Given the description of an element on the screen output the (x, y) to click on. 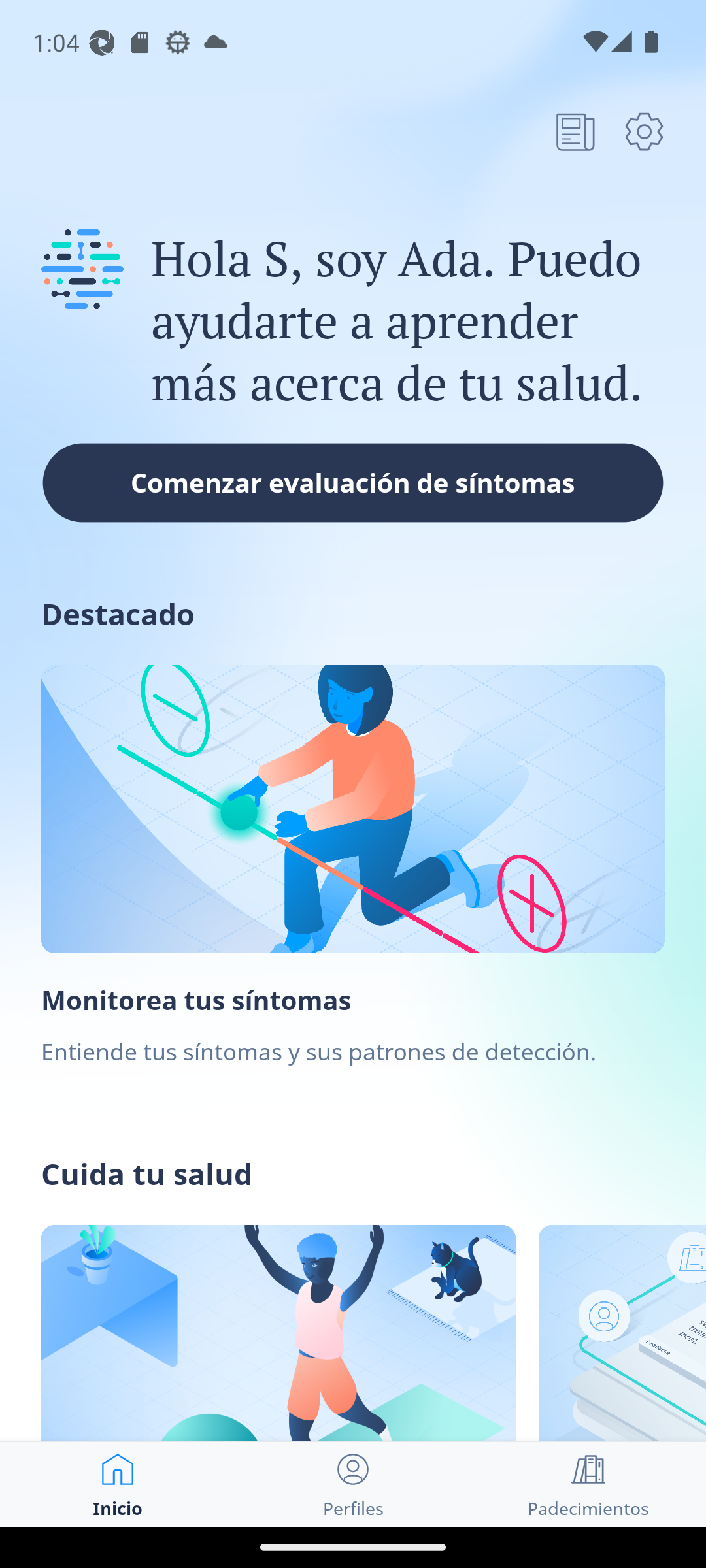
article icon , open articles (574, 131)
settings icon, open settings (644, 131)
Comenzar evaluación de síntomas (352, 482)
Inicio (117, 1484)
Perfiles (352, 1484)
Padecimientos (588, 1484)
